Given the description of an element on the screen output the (x, y) to click on. 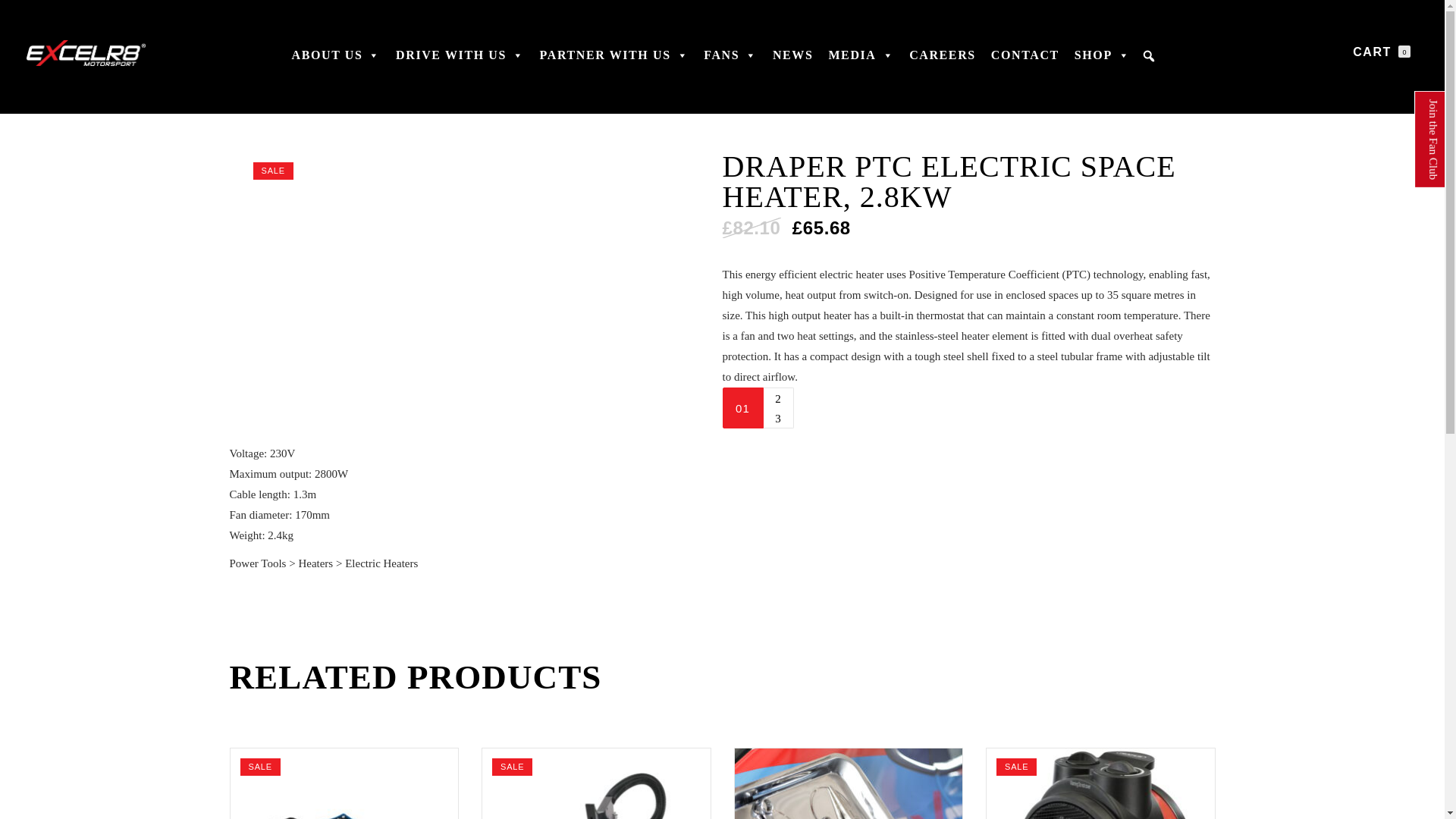
CONTACT (1025, 62)
CAREERS (942, 62)
SHOP (1102, 62)
NEWS (793, 62)
DRIVE WITH US (459, 62)
MEDIA (861, 62)
FANS (730, 62)
01 (742, 407)
Qty (742, 407)
ABOUT US (335, 62)
